Given the description of an element on the screen output the (x, y) to click on. 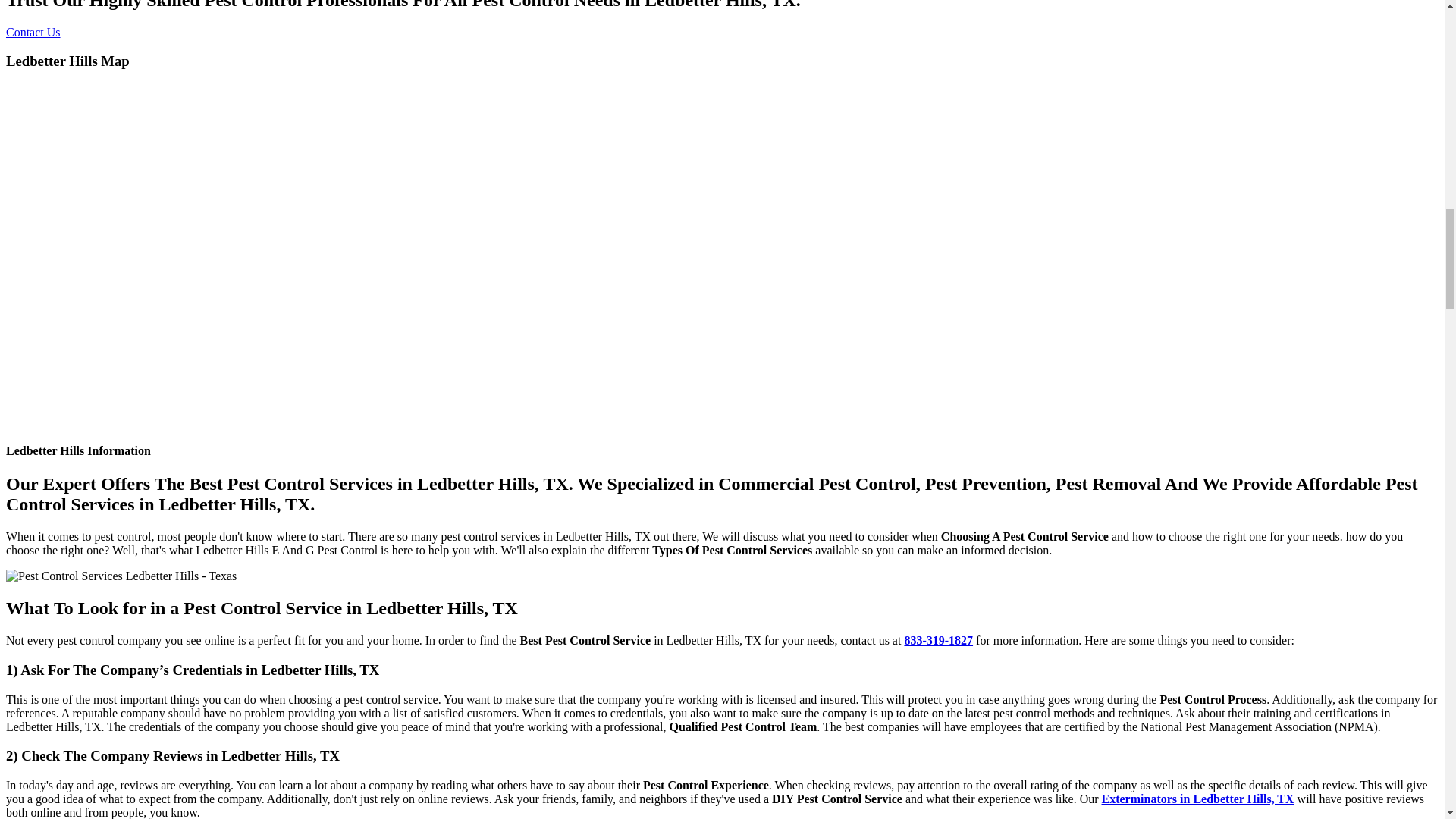
Exterminators in Ledbetter Hills, TX (1198, 798)
833-319-1827 (938, 640)
Contact Us (33, 31)
